Given the description of an element on the screen output the (x, y) to click on. 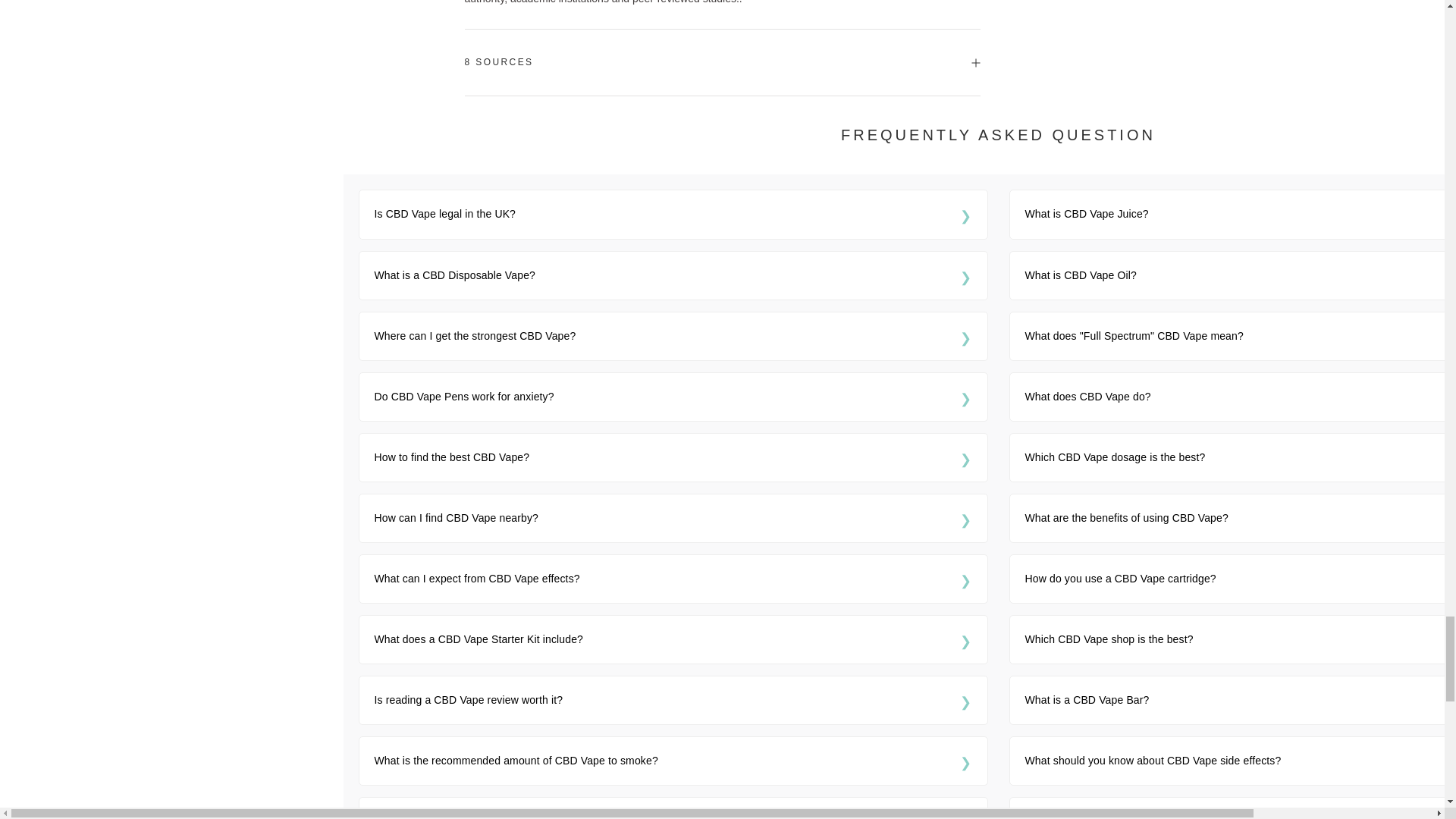
What does CBD Vape do? (1240, 396)
What is a CBD Disposable Vape? (673, 275)
What does  (1240, 335)
What is CBD Vape Oil? (1240, 275)
Is reading a CBD Vape review worth it? (673, 700)
Do CBD Vape Pens work for anxiety? (673, 396)
How to find the best CBD Vape? (673, 457)
What is CBD Vape Juice? (1240, 213)
Is CBD Vape legal in the UK? (673, 213)
What is a CBD Vape Bar? (1240, 700)
Which CBD Vape shop is the best? (1240, 639)
Which CBD Vape dosage is the best? (1240, 457)
What can I expect from CBD Vape effects? (673, 579)
What does a CBD Vape Starter Kit include? (673, 639)
What are the benefits of using CBD Vape? (1240, 518)
